Given the description of an element on the screen output the (x, y) to click on. 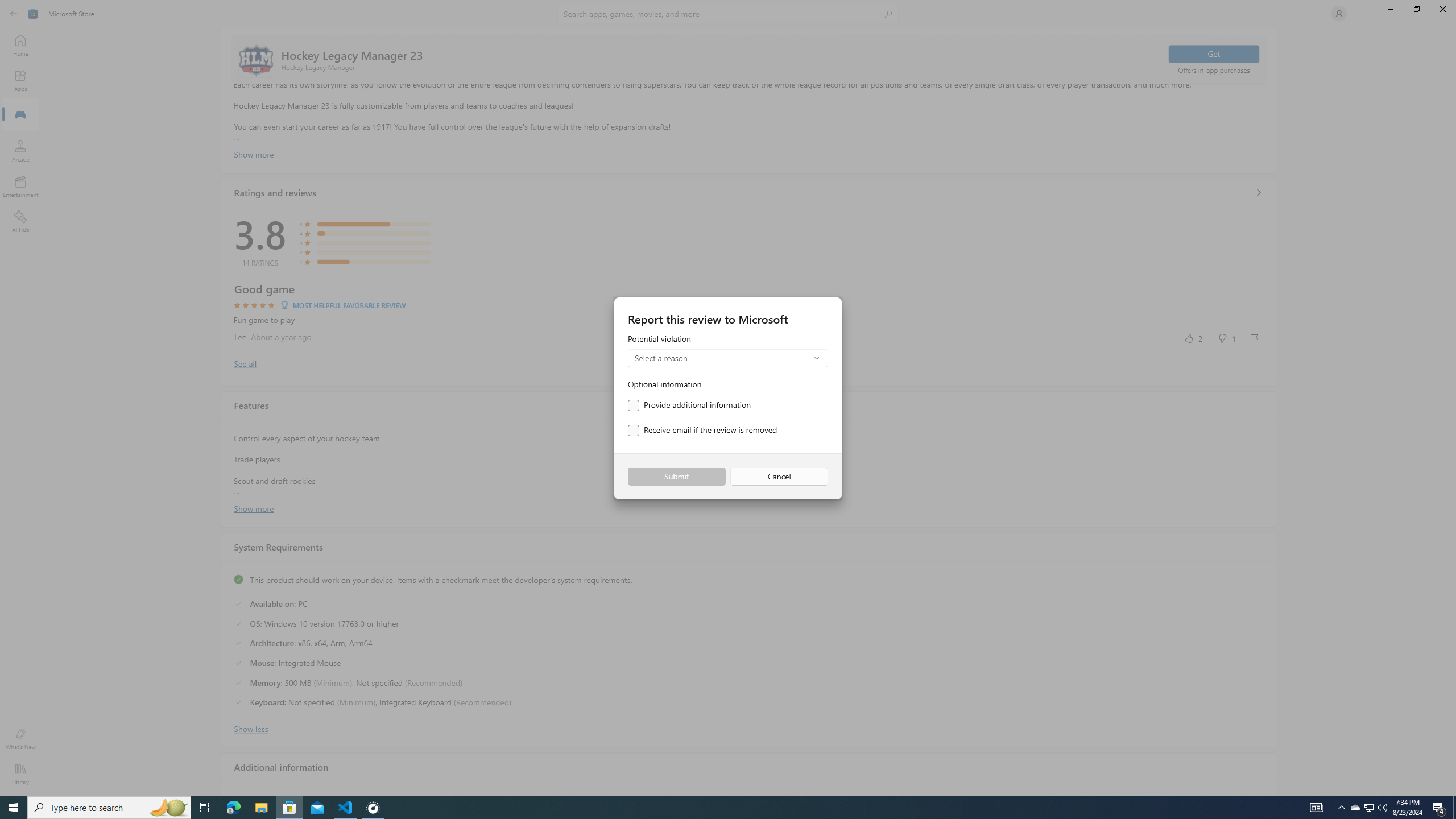
No, this was not helpful. 1 votes. (1226, 338)
Yes, this was helpful. 2 votes. (1192, 338)
Scroll to top (748, 59)
AutomationID: NavigationControl (728, 398)
Cancel (779, 476)
Receive email if the review is removed (702, 430)
Show less (250, 728)
Show all ratings and reviews (244, 362)
Submit (676, 476)
Back (13, 13)
